Given the description of an element on the screen output the (x, y) to click on. 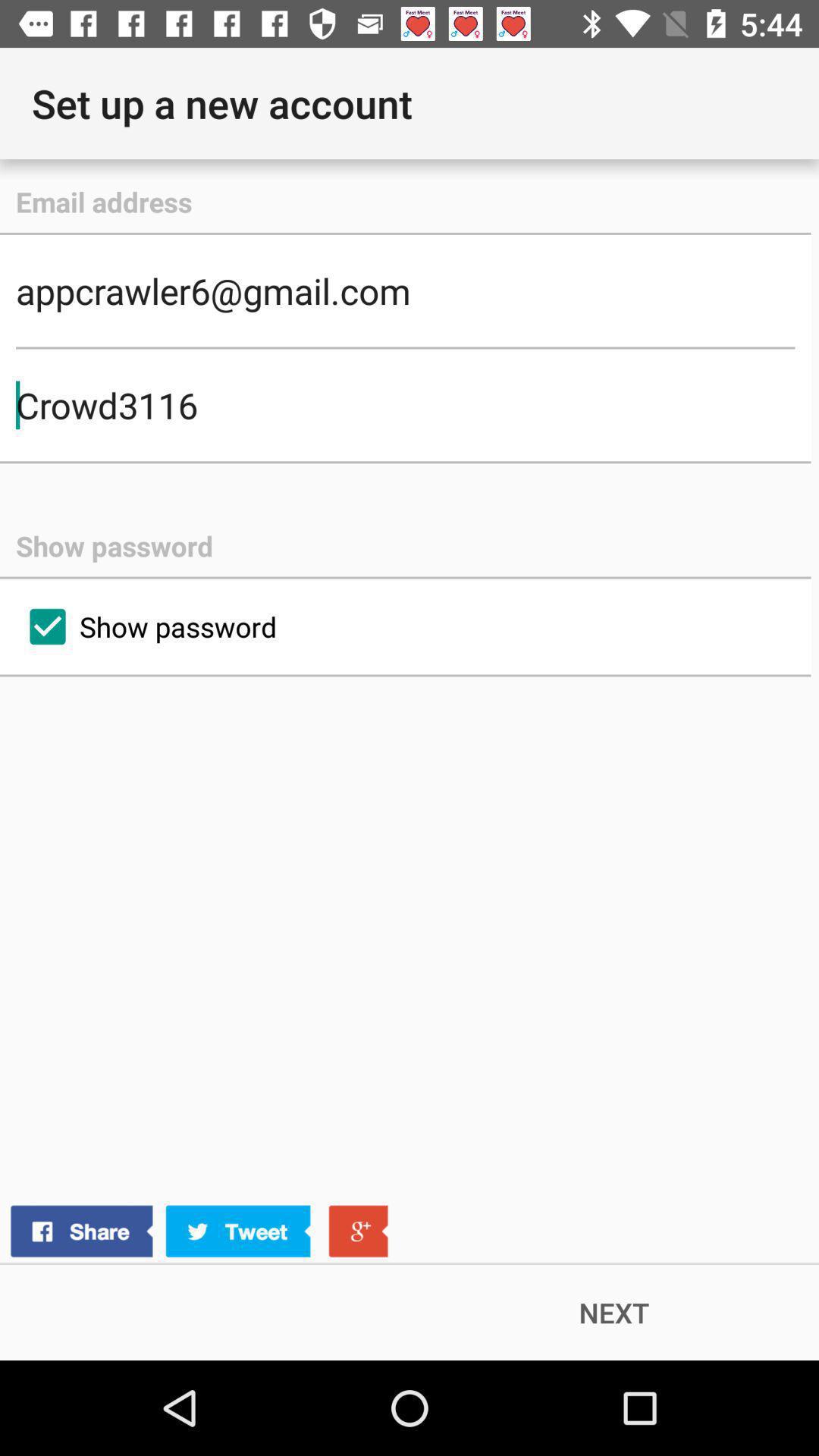
turn on the crowd3116 (405, 405)
